Given the description of an element on the screen output the (x, y) to click on. 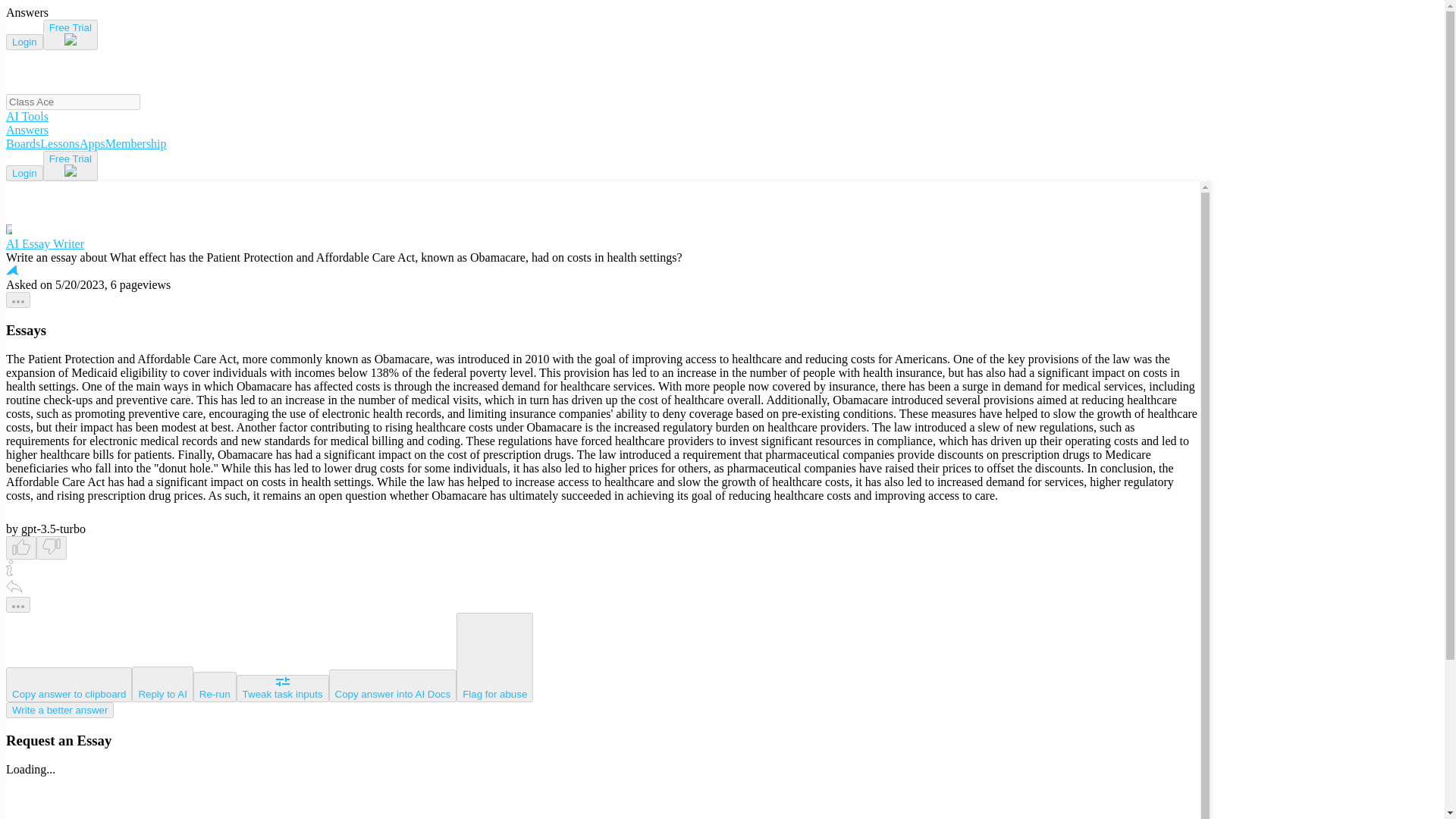
Reply to AI (162, 683)
AI Essay Writer (602, 236)
Write a better answer (59, 709)
Re-run (214, 686)
Membership (135, 143)
Copy answer to clipboard (68, 684)
Open Menu (19, 22)
Login (24, 41)
Apps (92, 143)
Login (24, 172)
Lessons (60, 143)
Free Trial (70, 165)
Free Trial (70, 34)
Boards (22, 143)
Tweak task inputs (282, 687)
